Given the description of an element on the screen output the (x, y) to click on. 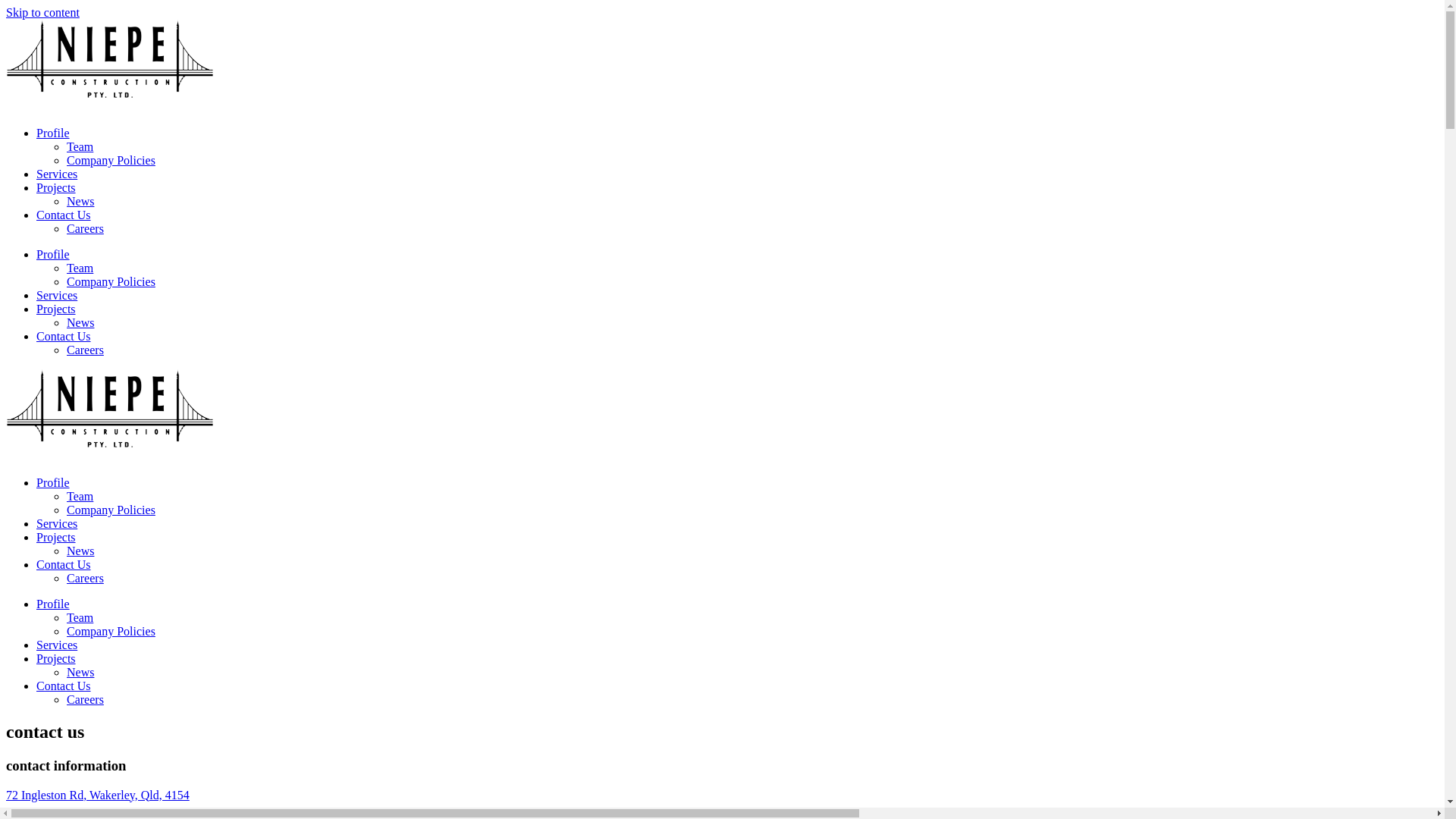
News Element type: text (80, 671)
Projects Element type: text (55, 187)
News Element type: text (80, 322)
Careers Element type: text (84, 699)
Skip to content Element type: text (42, 12)
News Element type: text (80, 200)
Team Element type: text (79, 146)
Company Policies Element type: text (110, 281)
Contact Us Element type: text (63, 685)
Services Element type: text (56, 294)
Projects Element type: text (55, 658)
Team Element type: text (79, 267)
Careers Element type: text (84, 577)
News Element type: text (80, 550)
Team Element type: text (79, 495)
Services Element type: text (56, 644)
Contact Us Element type: text (63, 335)
Team Element type: text (79, 617)
Careers Element type: text (84, 349)
Profile Element type: text (52, 132)
Profile Element type: text (52, 253)
Profile Element type: text (52, 603)
Contact Us Element type: text (63, 564)
Services Element type: text (56, 173)
Company Policies Element type: text (110, 630)
Careers Element type: text (84, 228)
Services Element type: text (56, 523)
72 Ingleston Rd, Wakerley, Qld, 4154 Element type: text (97, 794)
Profile Element type: text (52, 482)
Company Policies Element type: text (110, 159)
Contact Us Element type: text (63, 214)
Projects Element type: text (55, 536)
Projects Element type: text (55, 308)
Company Policies Element type: text (110, 509)
